Given the description of an element on the screen output the (x, y) to click on. 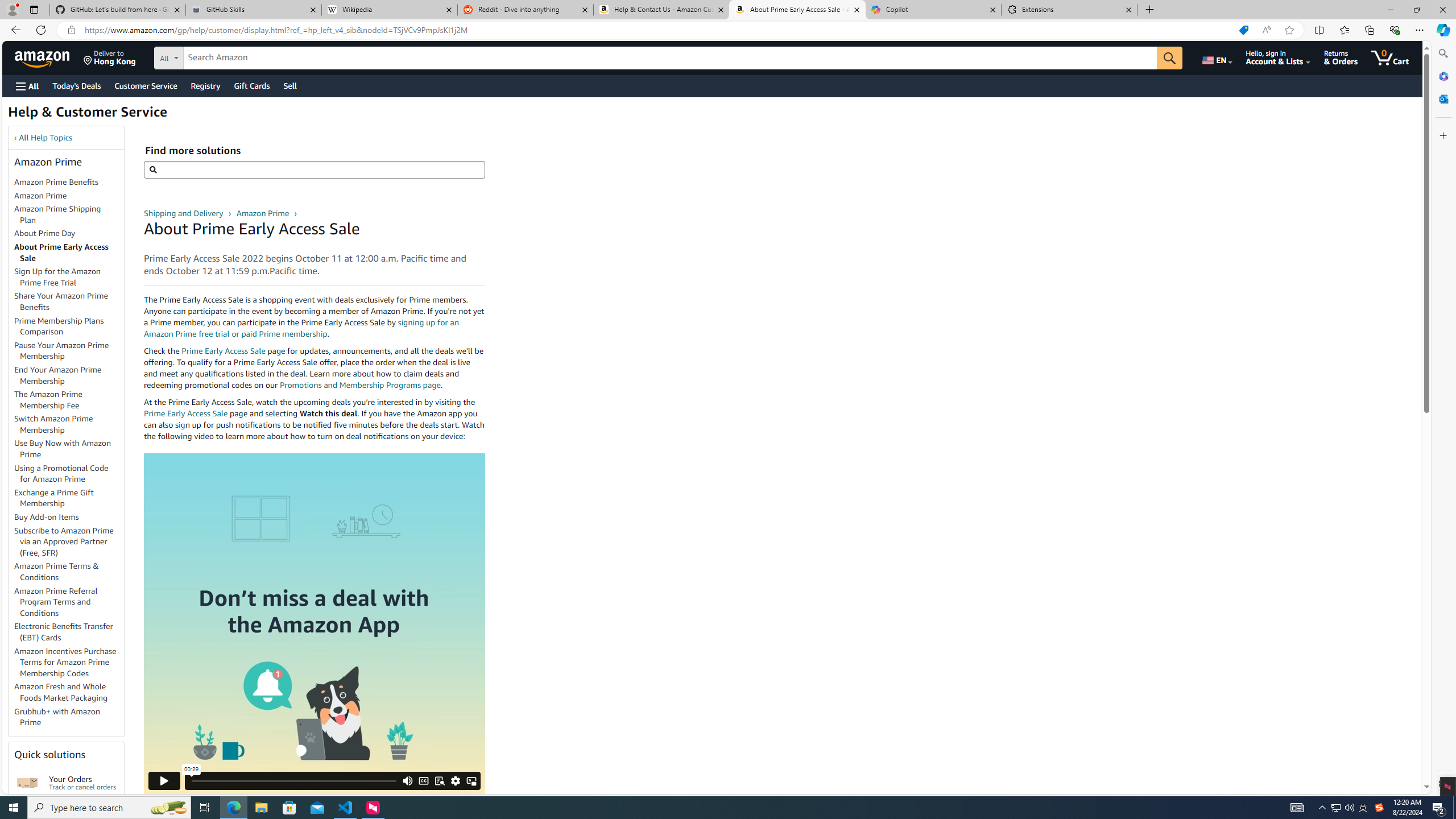
Amazon Prime (68, 196)
Electronic Benefits Transfer (EBT) Cards (63, 631)
Returns & Orders (1340, 57)
Today's Deals (76, 85)
Amazon (43, 57)
Buy Add-on Items (68, 517)
Amazon Prime  (263, 213)
Class: PlayButton_module_playIcon__8a61c7e4 (163, 780)
Search Amazon (670, 57)
